Given the description of an element on the screen output the (x, y) to click on. 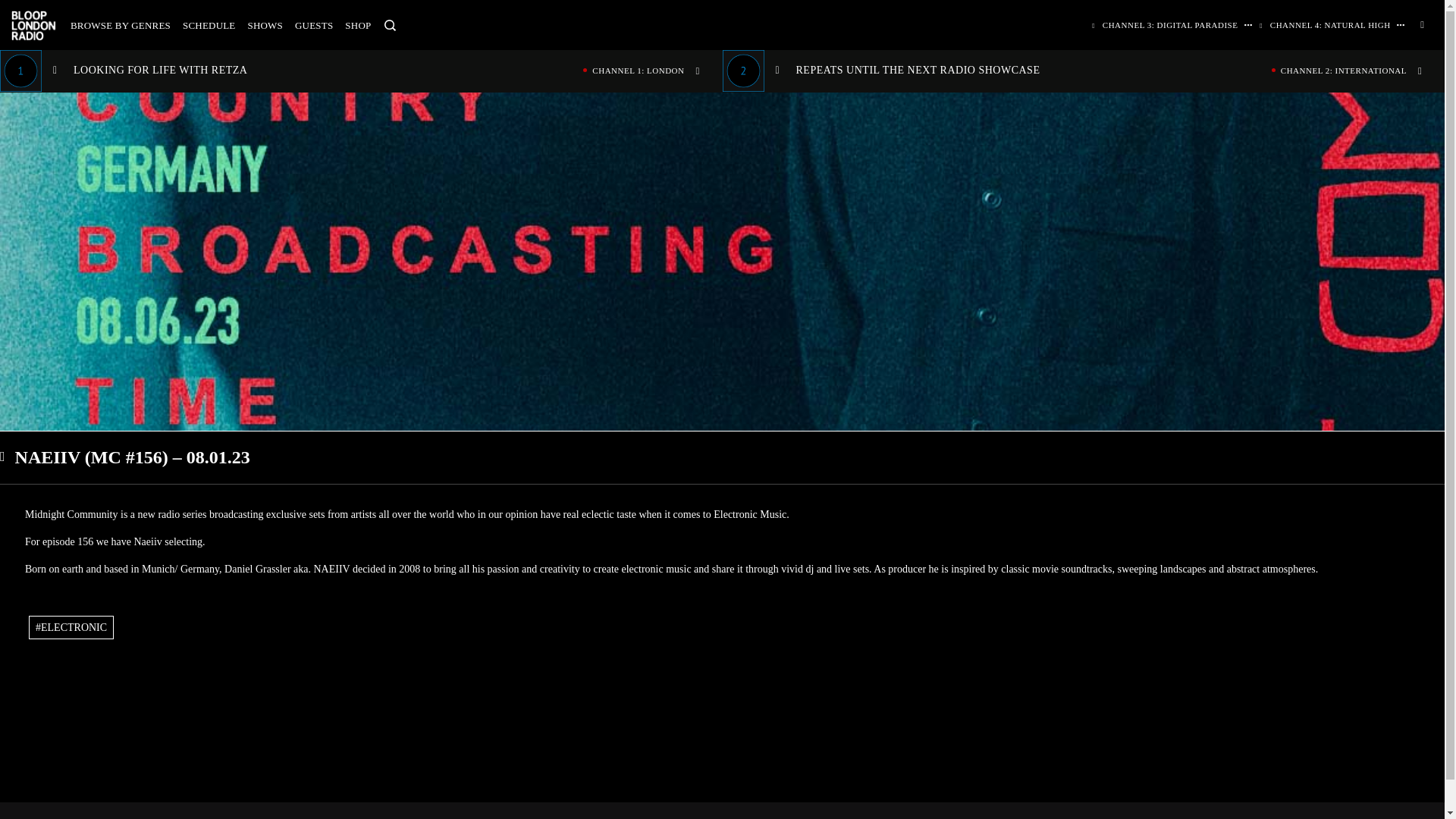
SCHEDULE (208, 25)
GUESTS (361, 70)
BROWSE BY GENRES (313, 25)
   CHANNEL 4: NATURAL HIGH (120, 25)
SHOWS (1326, 24)
SHOP (265, 25)
   CHANNEL 3: DIGITAL PARADISE (358, 25)
